Given the description of an element on the screen output the (x, y) to click on. 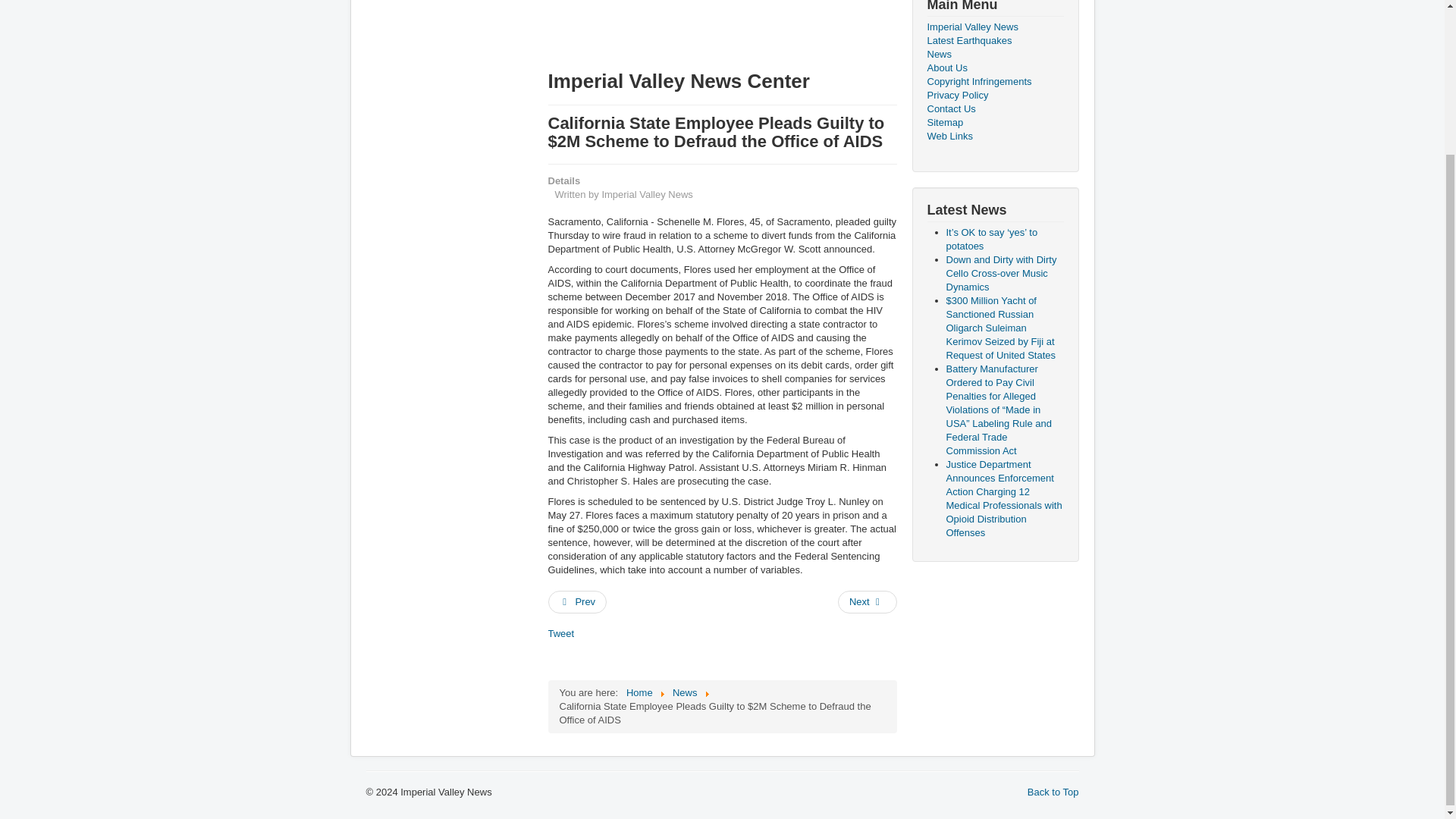
About Us (994, 68)
Contact Us (994, 109)
Advertisement (668, 28)
Copyright Infringements (994, 81)
Back to Top (1052, 791)
Imperial Valley News (994, 27)
Advertisement (425, 218)
Tweet (560, 633)
News (994, 54)
Web Links (994, 136)
Next (867, 601)
Home (639, 692)
Latest Earthquakes (994, 40)
Down and Dirty with Dirty Cello Cross-over Music Dynamics (1001, 272)
